Given the description of an element on the screen output the (x, y) to click on. 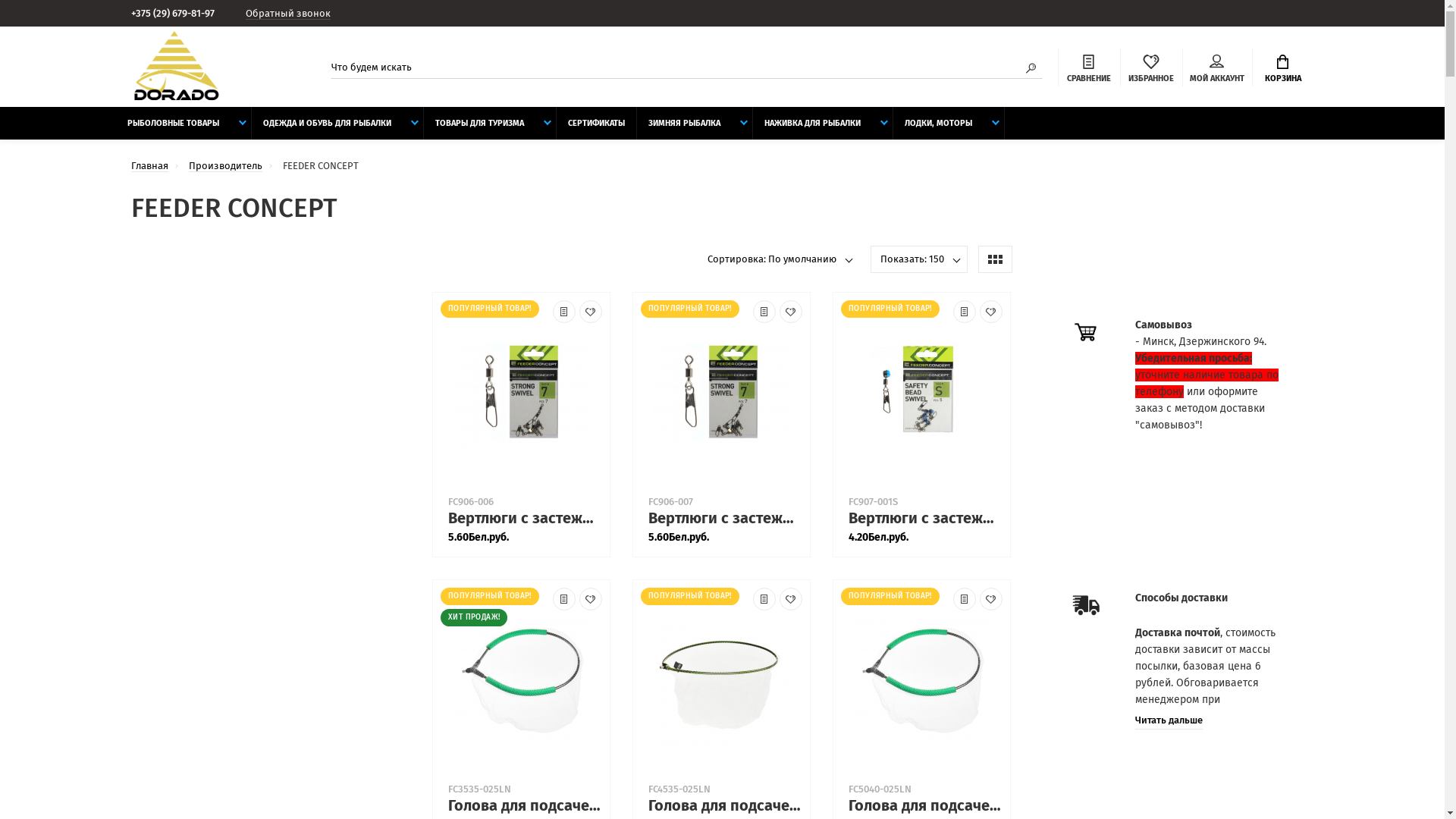
+375 (29) 679-81-97 Element type: text (177, 13)
